Given the description of an element on the screen output the (x, y) to click on. 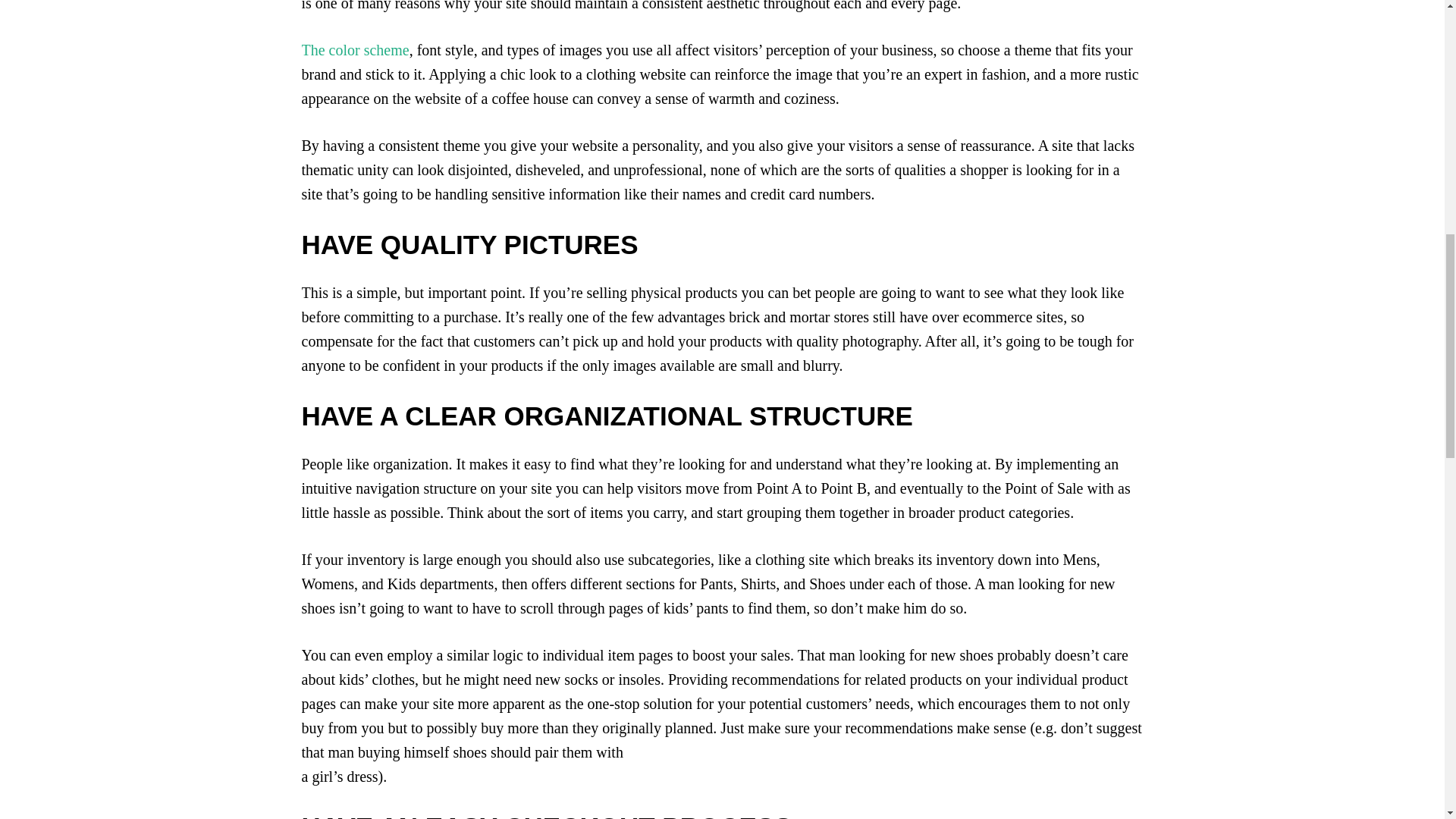
The color scheme (355, 49)
